Given the description of an element on the screen output the (x, y) to click on. 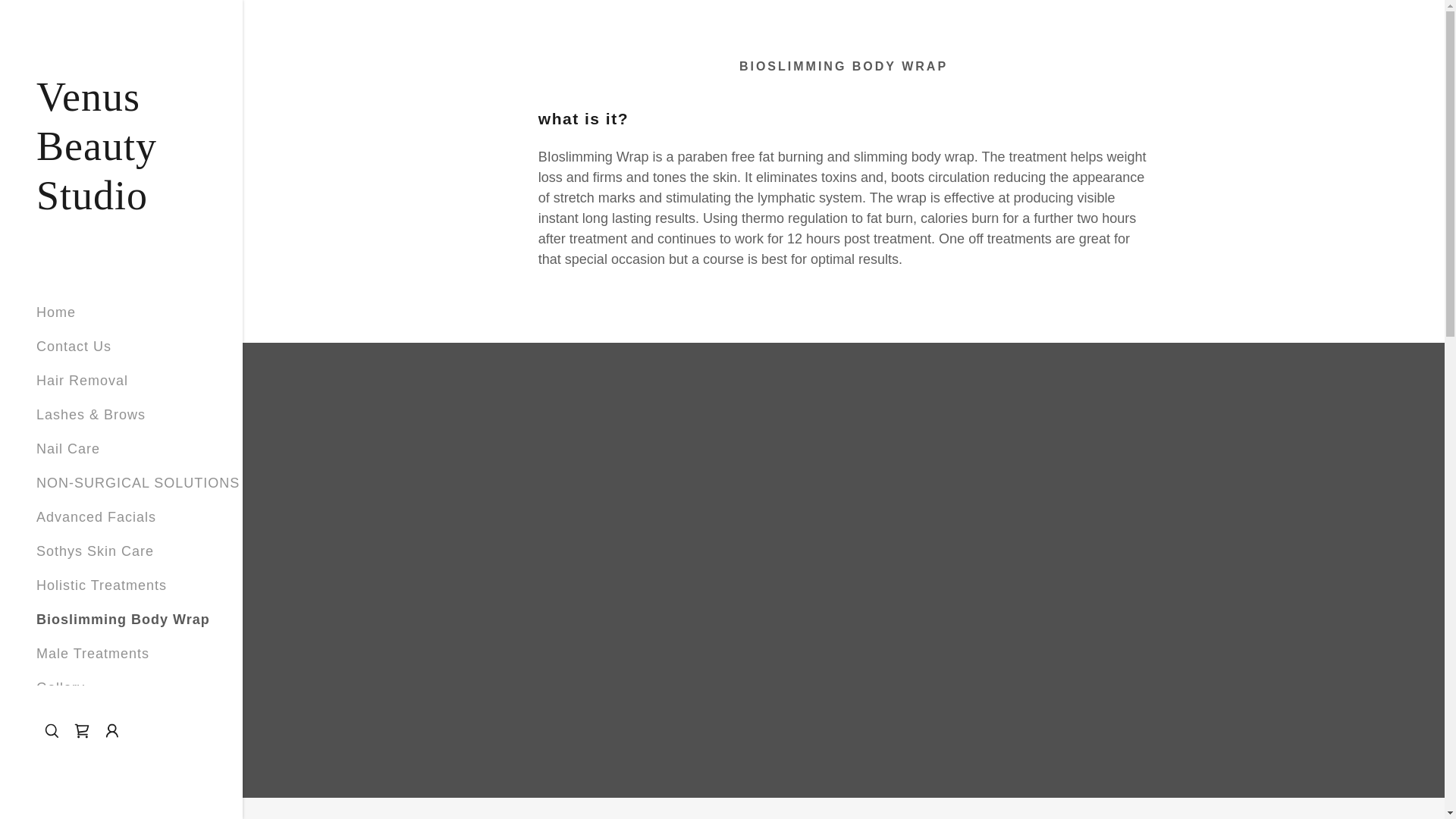
Gallery (60, 687)
Bioslimming Body Wrap (122, 619)
Home (55, 312)
Sothys Skin Care (95, 550)
Venus Beauty Studio (121, 204)
Venus Beauty Studio (121, 204)
Male Treatments (92, 653)
Advanced Facials (95, 516)
Holistic Treatments (101, 585)
NON-SURGICAL SOLUTIONS (138, 482)
